Given the description of an element on the screen output the (x, y) to click on. 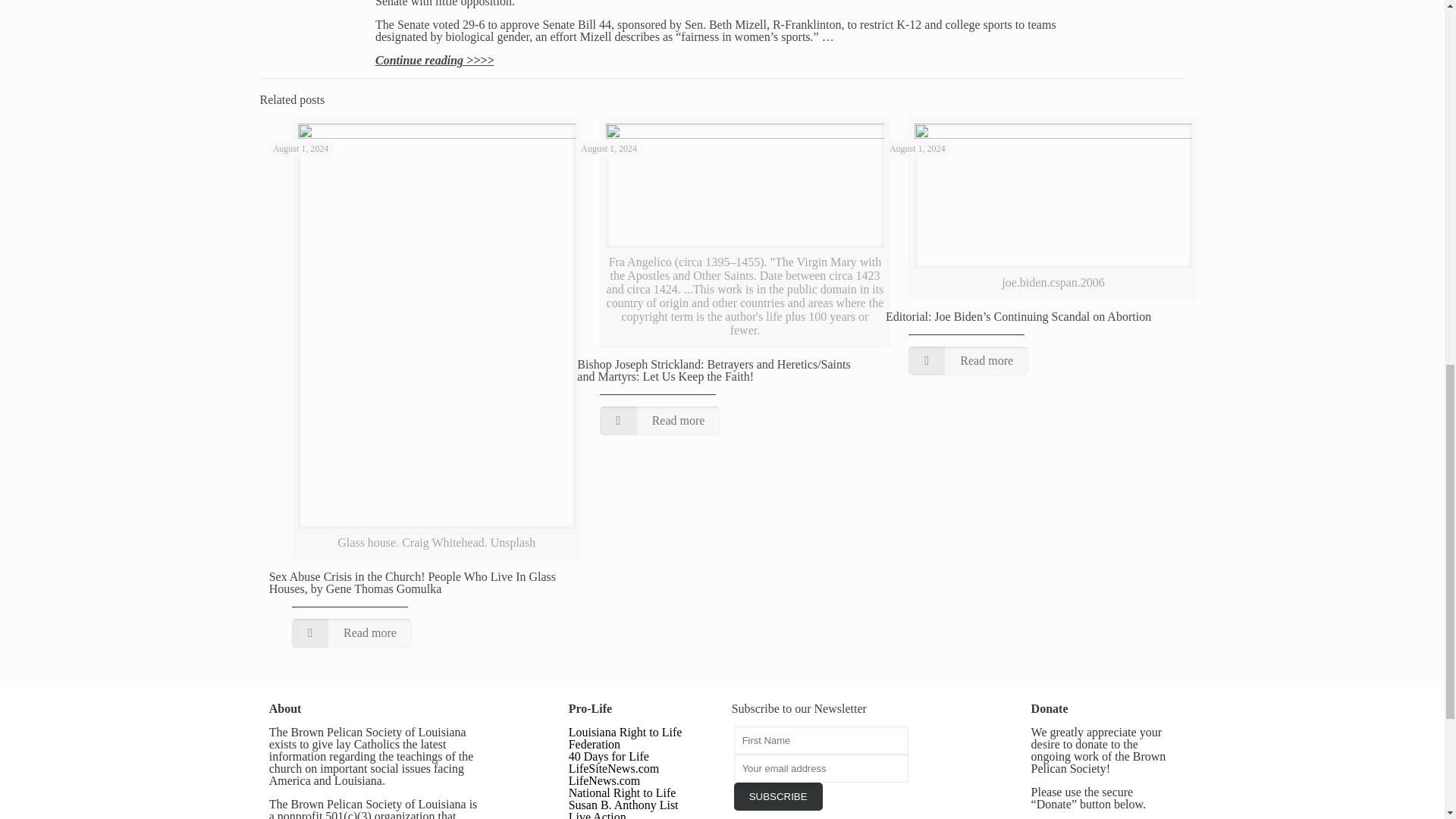
Senate Bill 44 (576, 24)
Read more (659, 420)
SUBSCRIBE (777, 796)
Read more (352, 633)
